Given the description of an element on the screen output the (x, y) to click on. 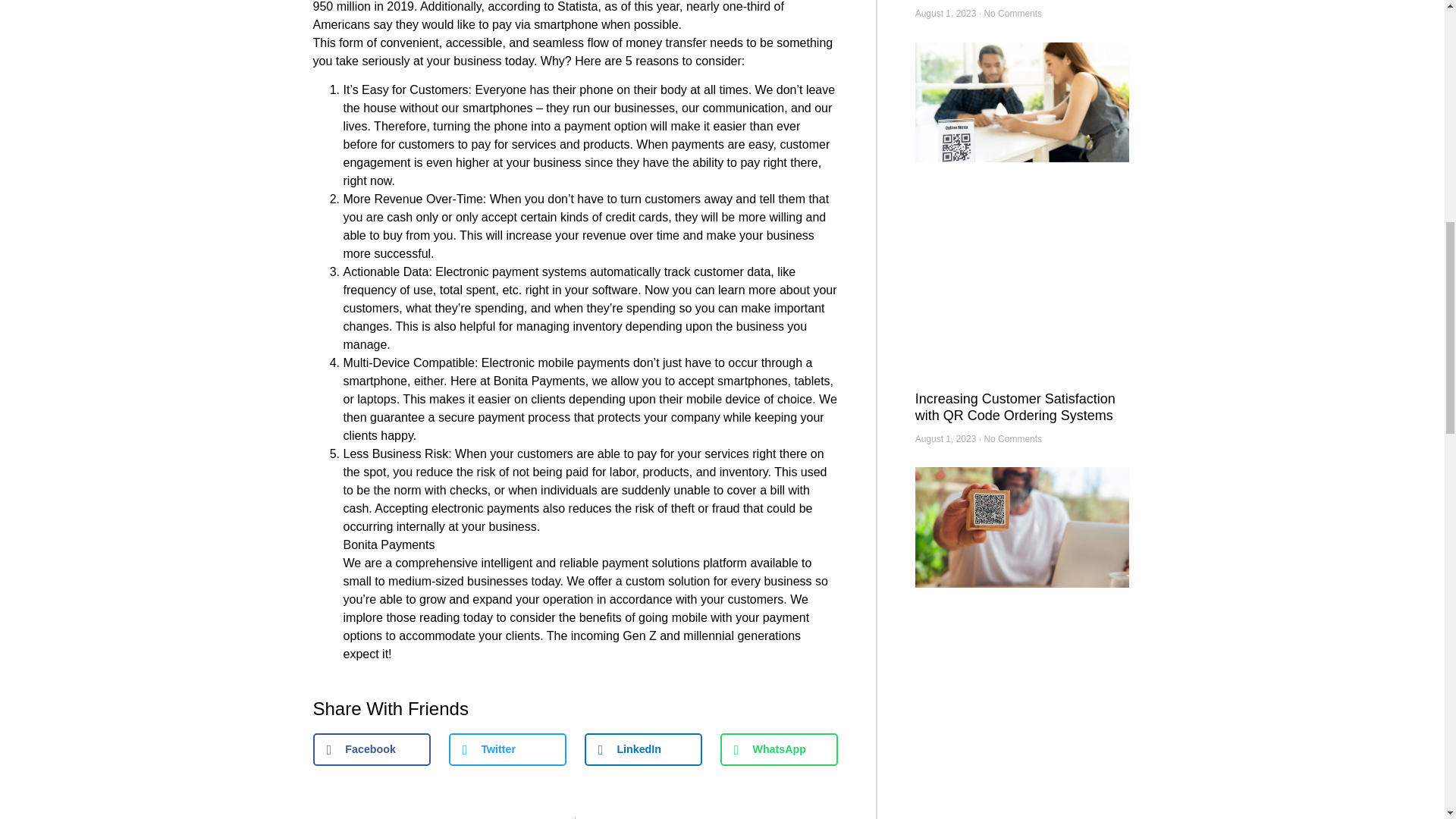
QR Code Ordering: A Solution for Busy Restaurants (1015, 817)
Share With Friends (575, 709)
